Given the description of an element on the screen output the (x, y) to click on. 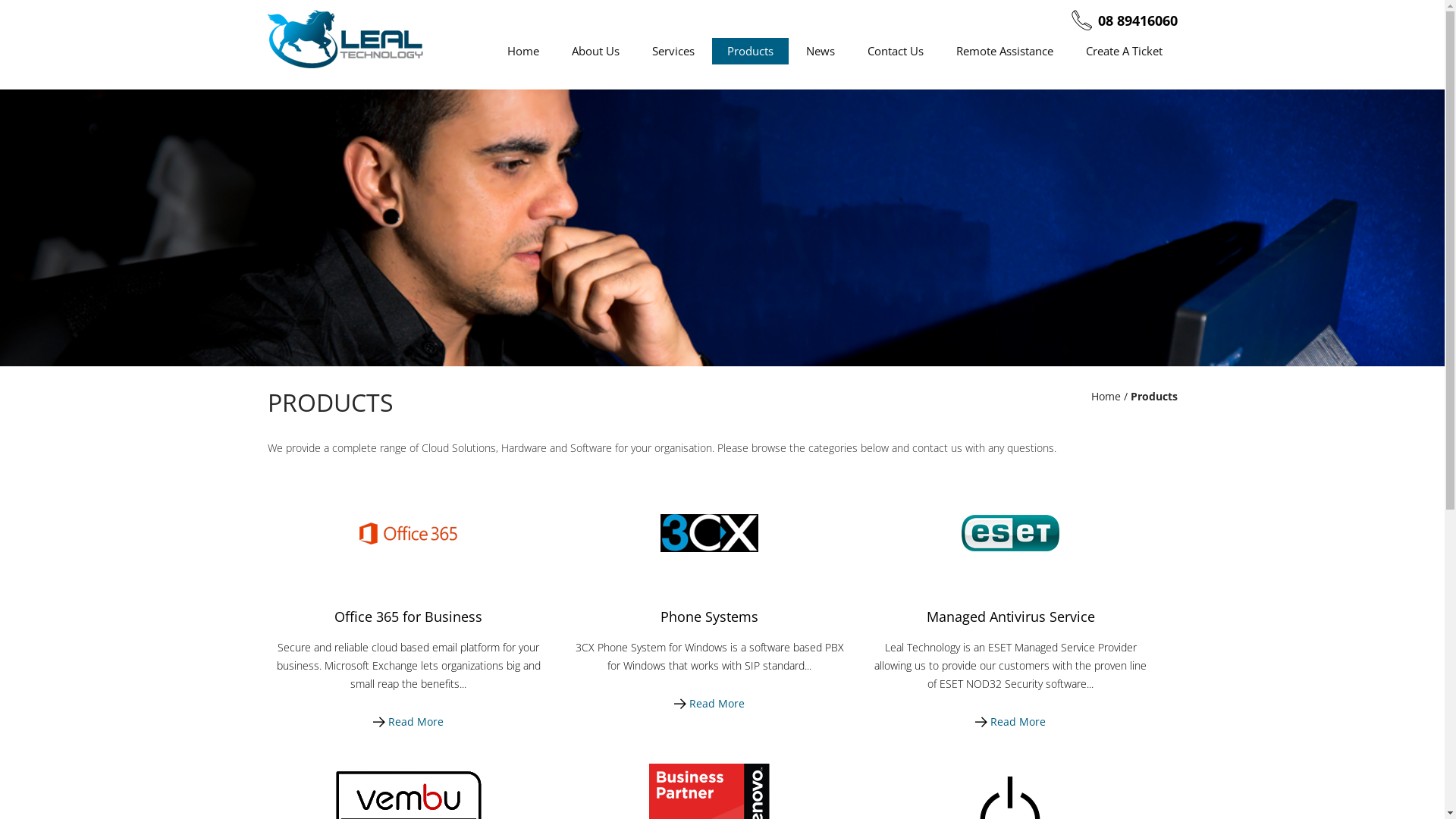
Read More Element type: text (709, 703)
Products Element type: text (749, 50)
Services Element type: text (673, 50)
News Element type: text (819, 50)
Contact Us Element type: text (895, 50)
Phone Systems Element type: text (709, 616)
Home Element type: text (1105, 396)
Read More Element type: text (1010, 721)
Office 365 for Business Element type: text (408, 616)
Create A Ticket Element type: text (1123, 50)
About Us Element type: text (595, 50)
Managed Antivirus Service Element type: text (1010, 616)
Remote Assistance Element type: text (1003, 50)
Read More Element type: text (408, 721)
Home Element type: text (522, 50)
08 89416060 Element type: text (1137, 20)
